Given the description of an element on the screen output the (x, y) to click on. 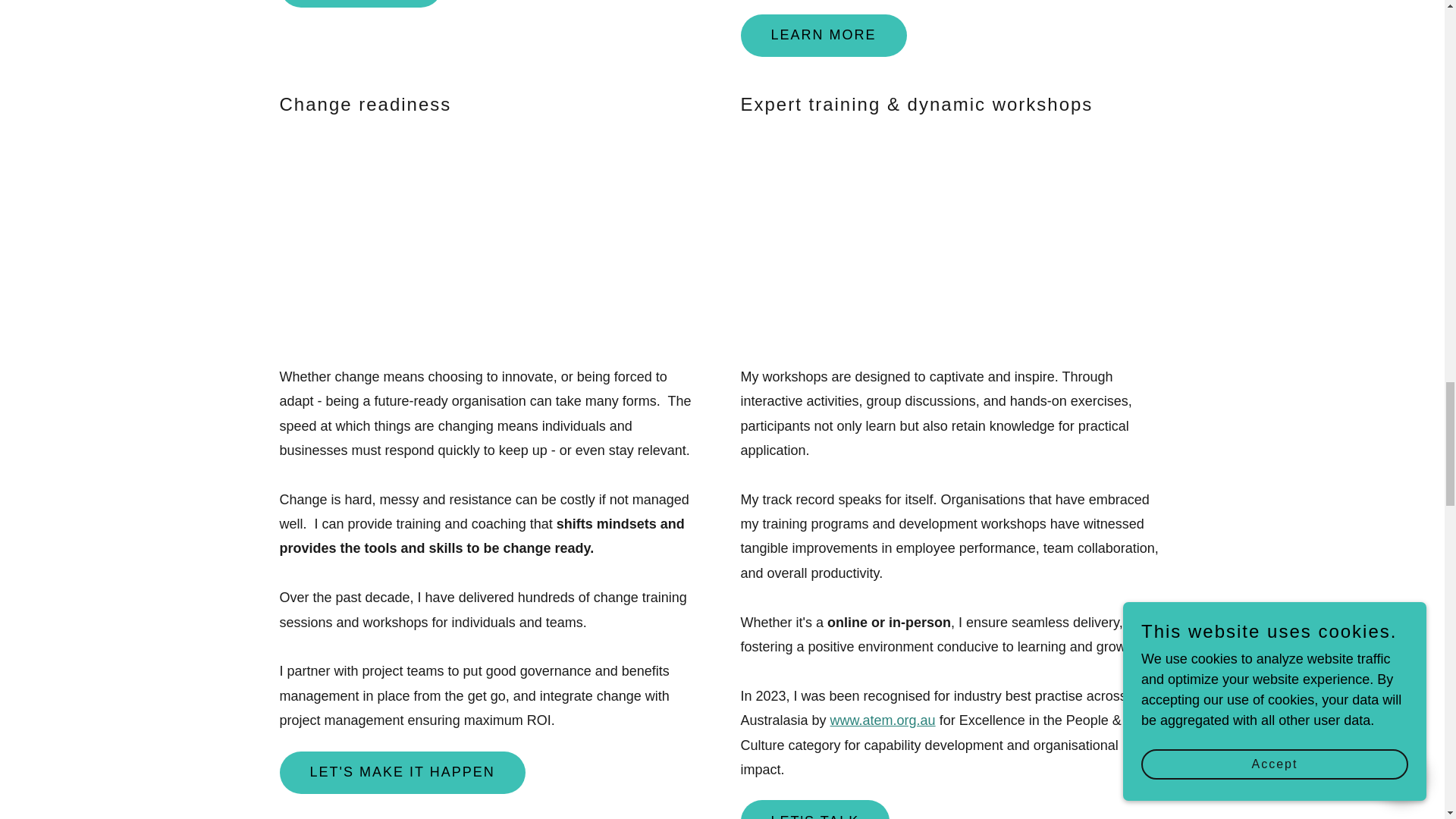
LET'S MAKE IT HAPPEN (401, 772)
www.atem.org.au (882, 720)
LEARN MORE (822, 35)
BOOK ME IN! (360, 3)
LET'S TALK (814, 809)
